Given the description of an element on the screen output the (x, y) to click on. 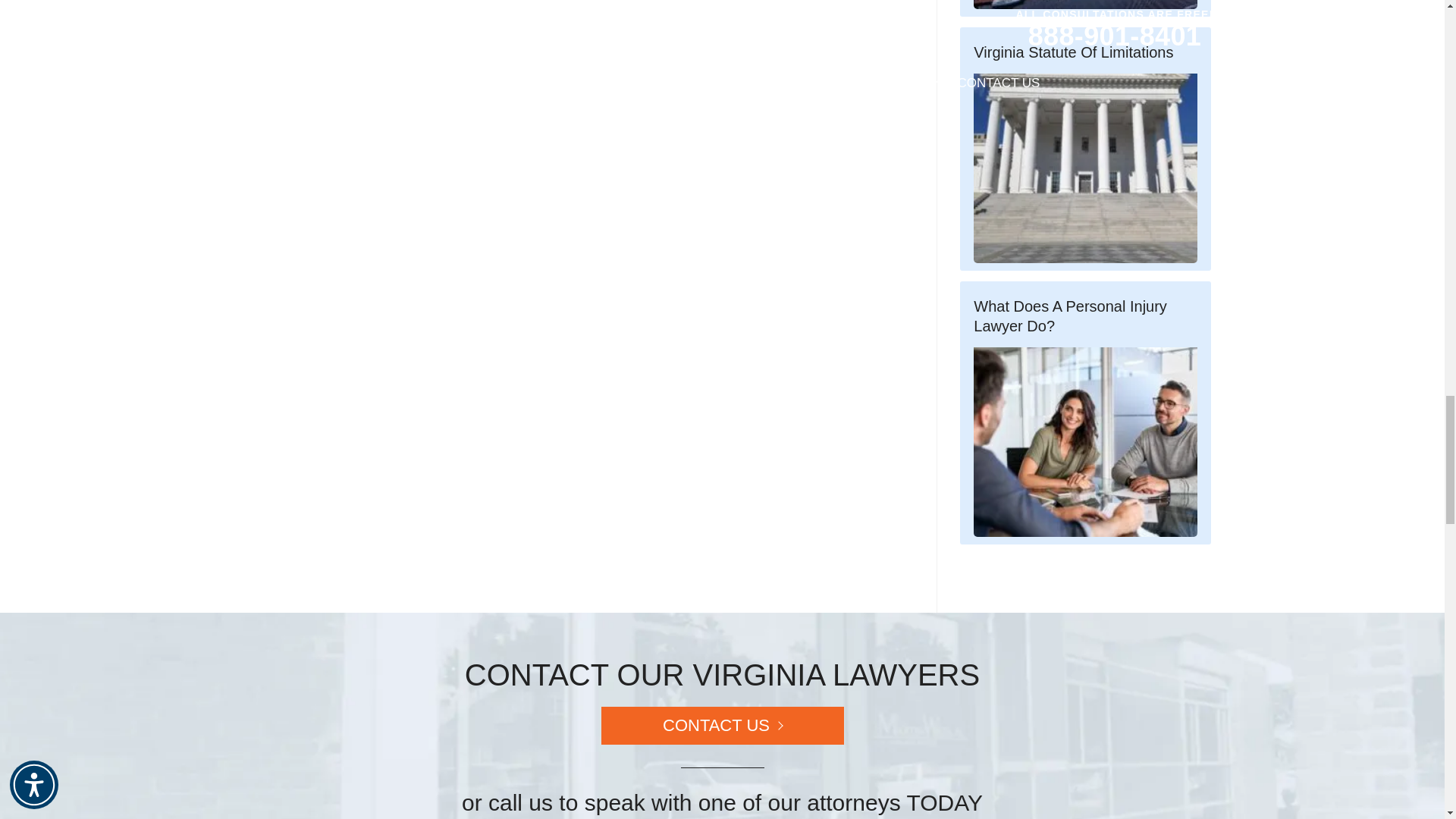
Is Virginia a No-Fault State? (1085, 4)
Virginia Statute of Limitations (1085, 167)
Virginia Statute of Limitations (1085, 149)
What does a Personal Injury Lawyer Do? (1085, 442)
What does a Personal Injury Lawyer Do? (1085, 412)
Is Virginia a No-Fault State? (1085, 8)
